Given the description of an element on the screen output the (x, y) to click on. 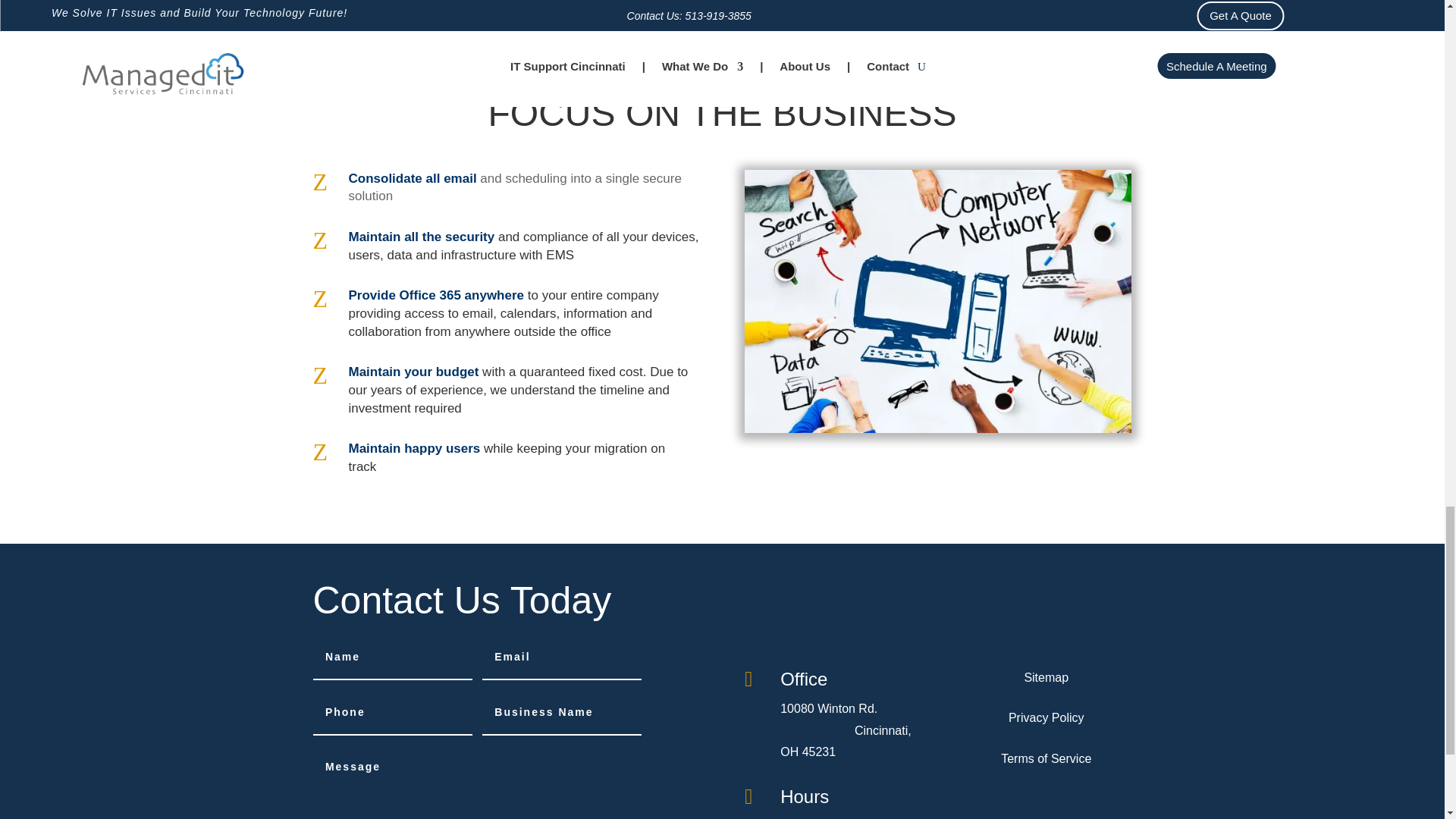
Support (937, 301)
Maximum length: 100 characters. (392, 657)
Privacy Policy (1046, 717)
Office 365 (429, 295)
Terms of Service (1045, 758)
Sitemap (1045, 676)
Maximum length: 100 characters. (392, 713)
Maximum length: 100 characters. (561, 713)
